Given the description of an element on the screen output the (x, y) to click on. 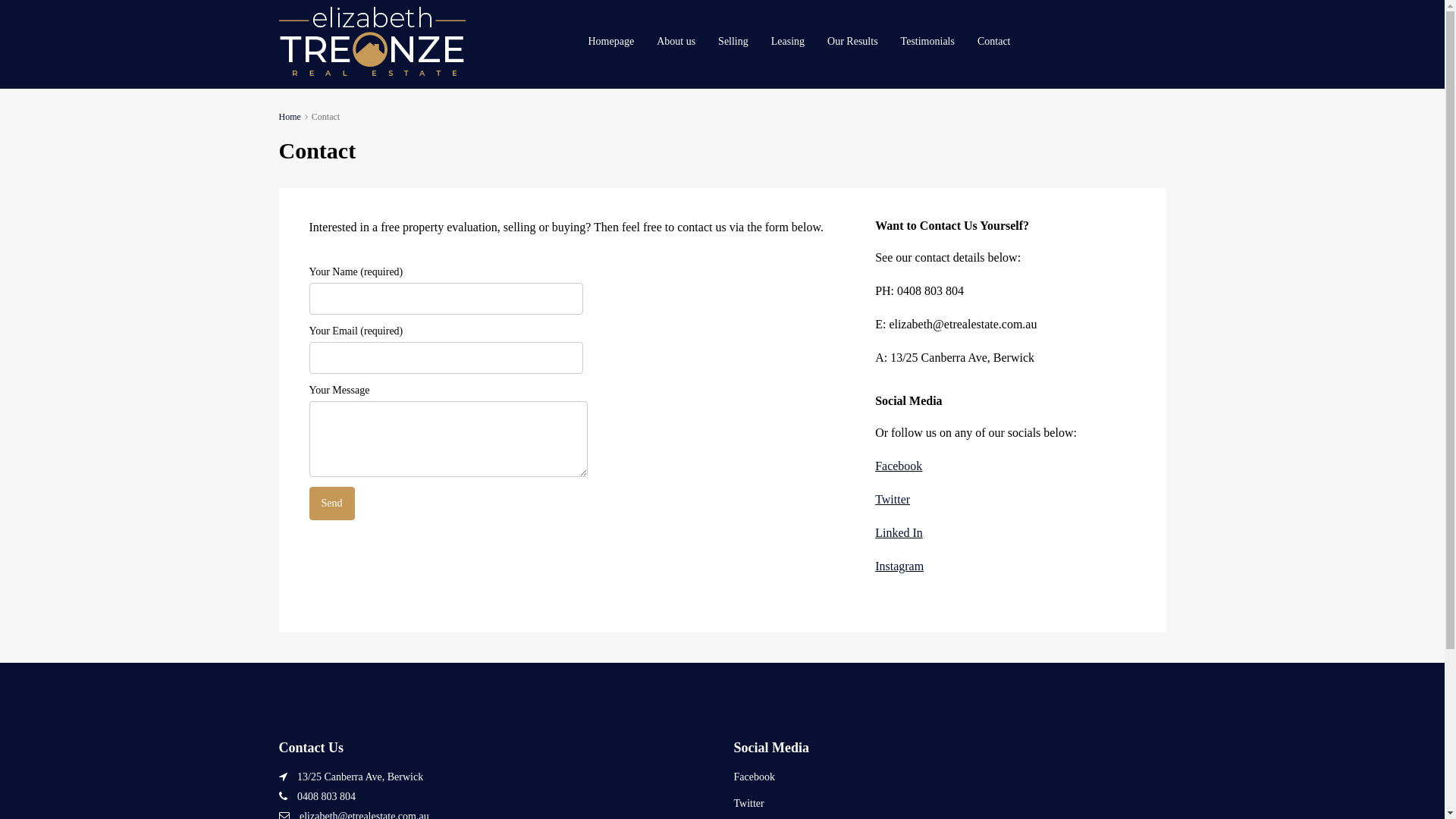
Contact Element type: text (994, 41)
Selling Element type: text (732, 41)
Send Element type: text (331, 503)
Testimonials Element type: text (927, 41)
Twitter Element type: text (749, 803)
Linked In Element type: text (898, 532)
About us Element type: text (675, 41)
Home Element type: text (290, 116)
Leasing Element type: text (787, 41)
Instagram Element type: text (899, 565)
Homepage Element type: text (610, 41)
Our Results Element type: text (852, 41)
Facebook Element type: text (754, 776)
Facebook Element type: text (898, 465)
Twitter Element type: text (892, 498)
